Given the description of an element on the screen output the (x, y) to click on. 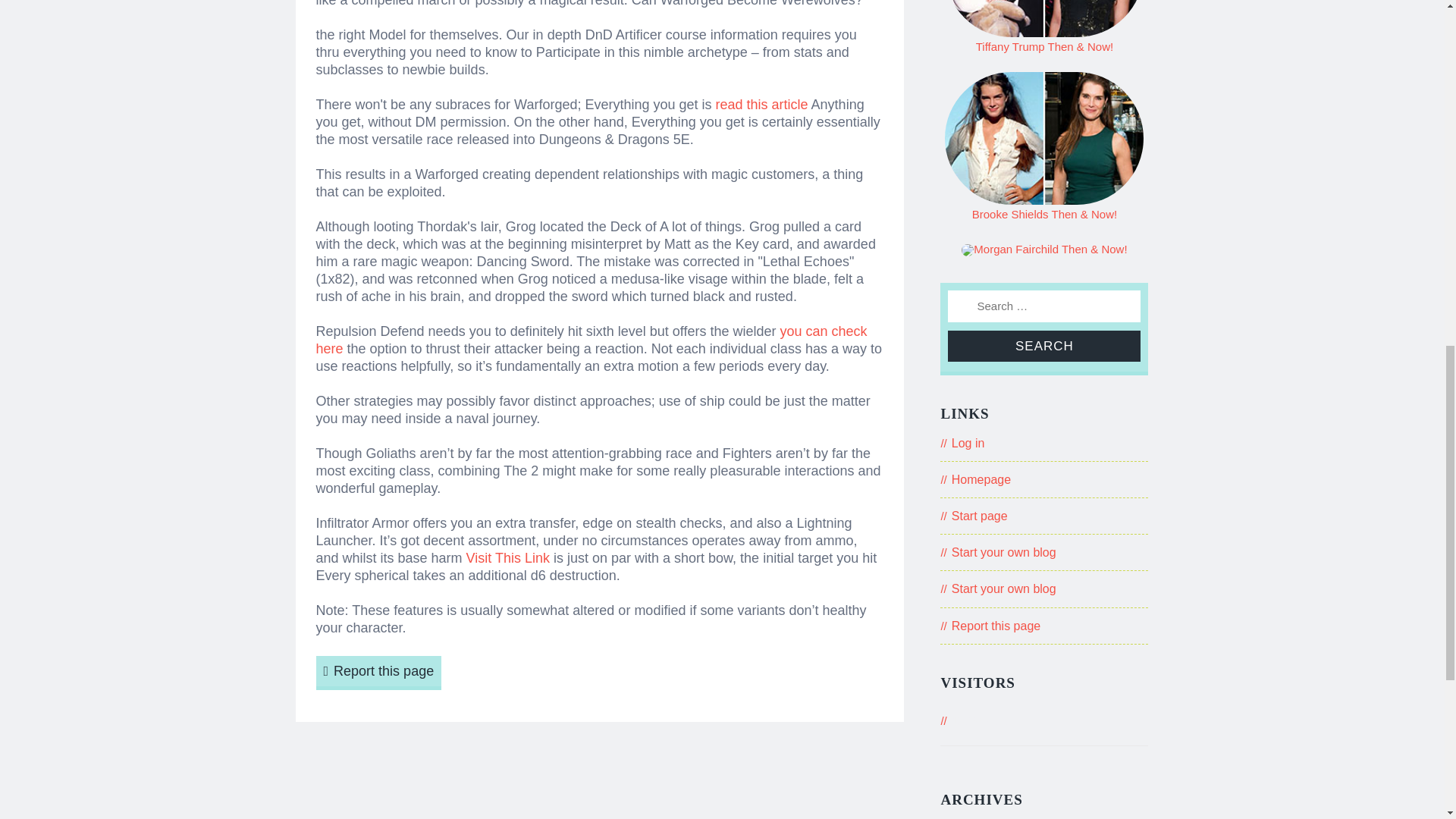
Visit This Link (507, 557)
read this article (762, 104)
Report this page (996, 625)
Report this page (378, 673)
you can check here (590, 339)
Homepage (981, 479)
Log in (968, 442)
Start page (979, 515)
Search (1043, 345)
Start your own blog (1004, 588)
